Given the description of an element on the screen output the (x, y) to click on. 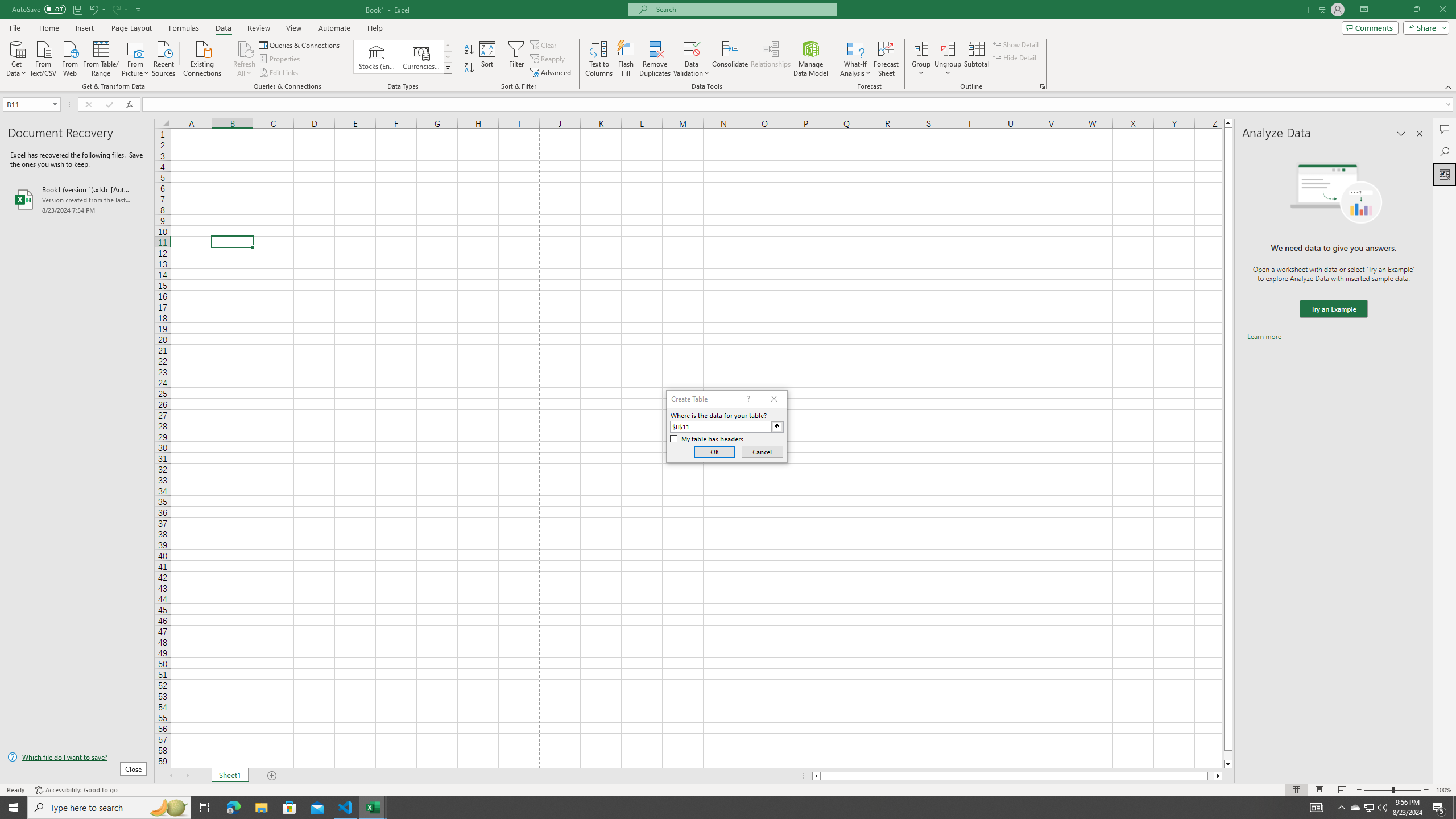
Row up (448, 45)
Advanced... (551, 72)
Scroll Left (171, 775)
What-If Analysis (855, 58)
Class: MsoCommandBar (728, 45)
Ribbon Display Options (1364, 9)
Accessibility Checker Accessibility: Good to go (76, 790)
Data Validation... (691, 48)
Minimize (1390, 9)
File Tab (15, 27)
Sort Z to A (469, 67)
Share (1423, 27)
Formulas (184, 28)
